Given the description of an element on the screen output the (x, y) to click on. 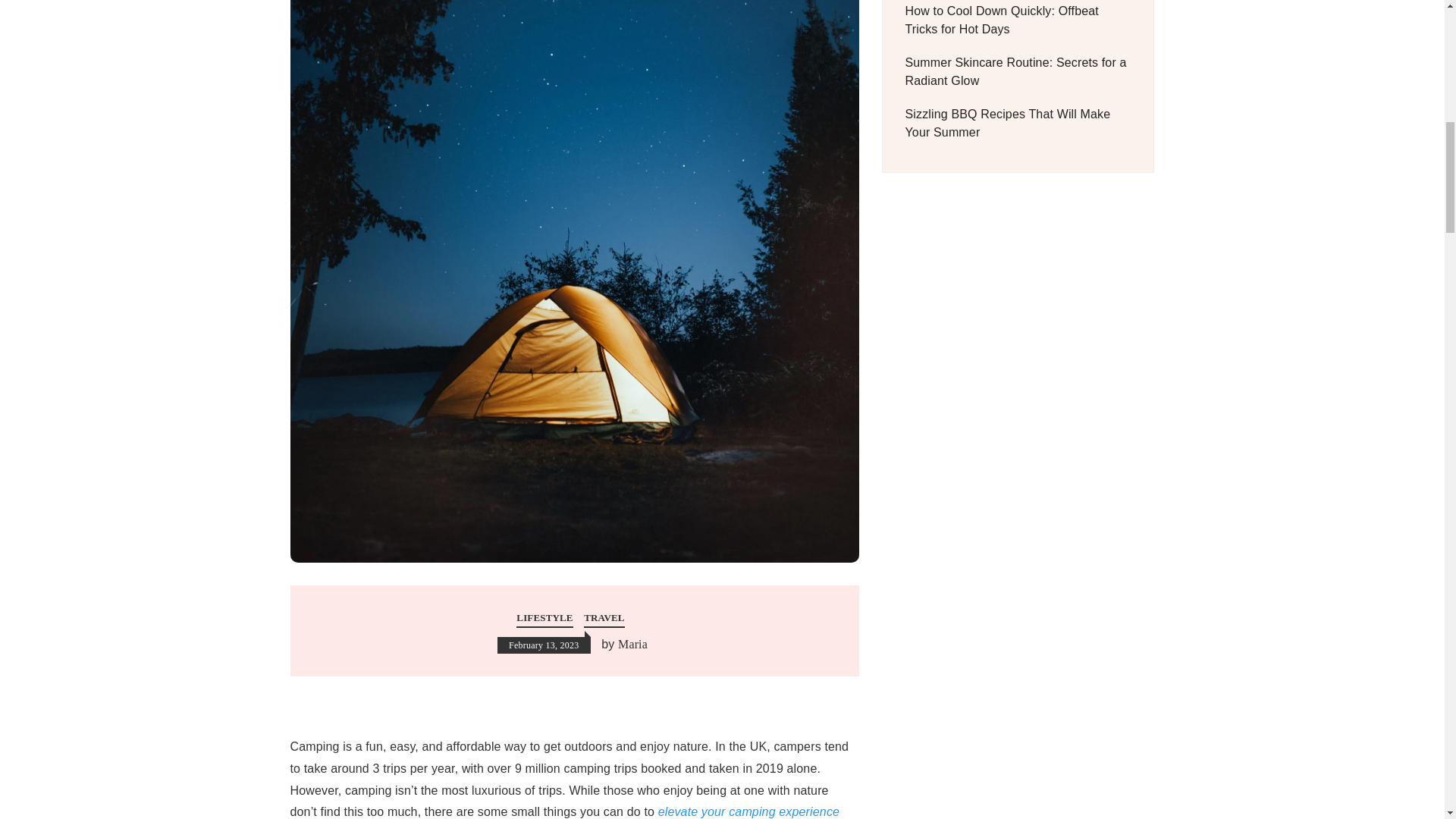
TRAVEL (603, 619)
elevate your camping experience (749, 811)
Maria (632, 644)
February 13, 2023 (544, 645)
LIFESTYLE (544, 619)
